Given the description of an element on the screen output the (x, y) to click on. 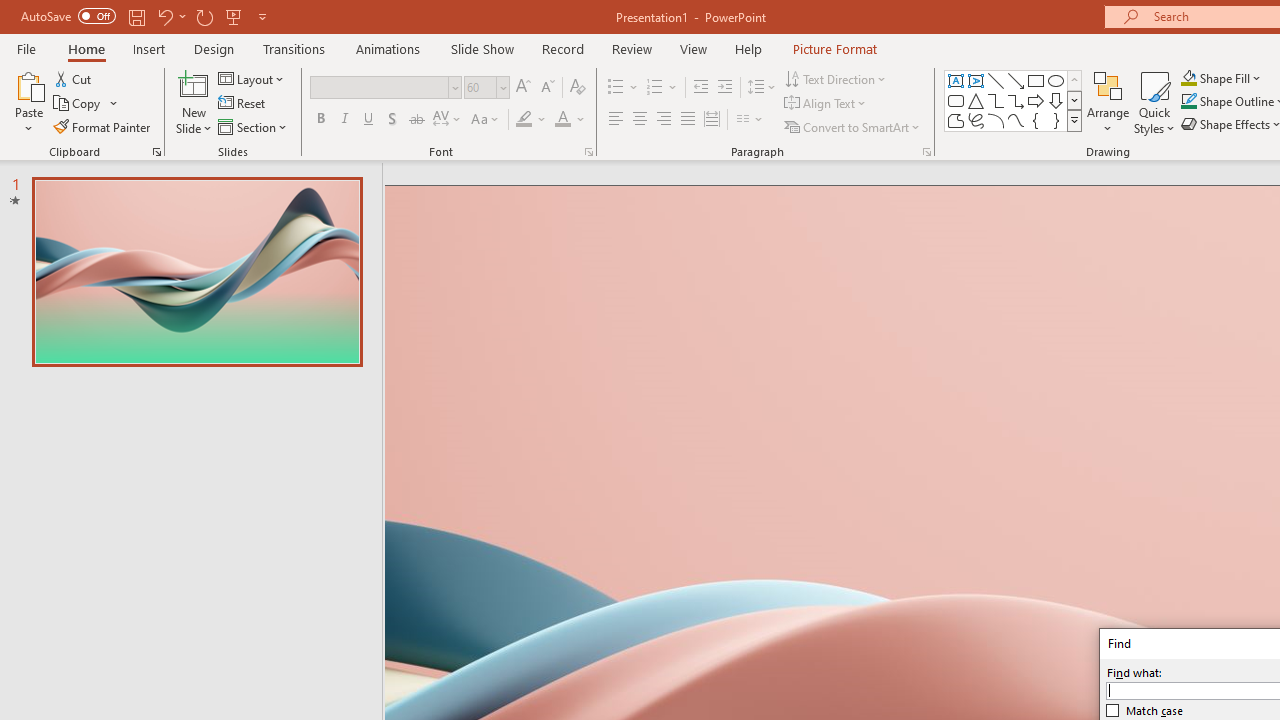
Format Painter (103, 126)
Right Brace (1055, 120)
Text Direction (836, 78)
